Given the description of an element on the screen output the (x, y) to click on. 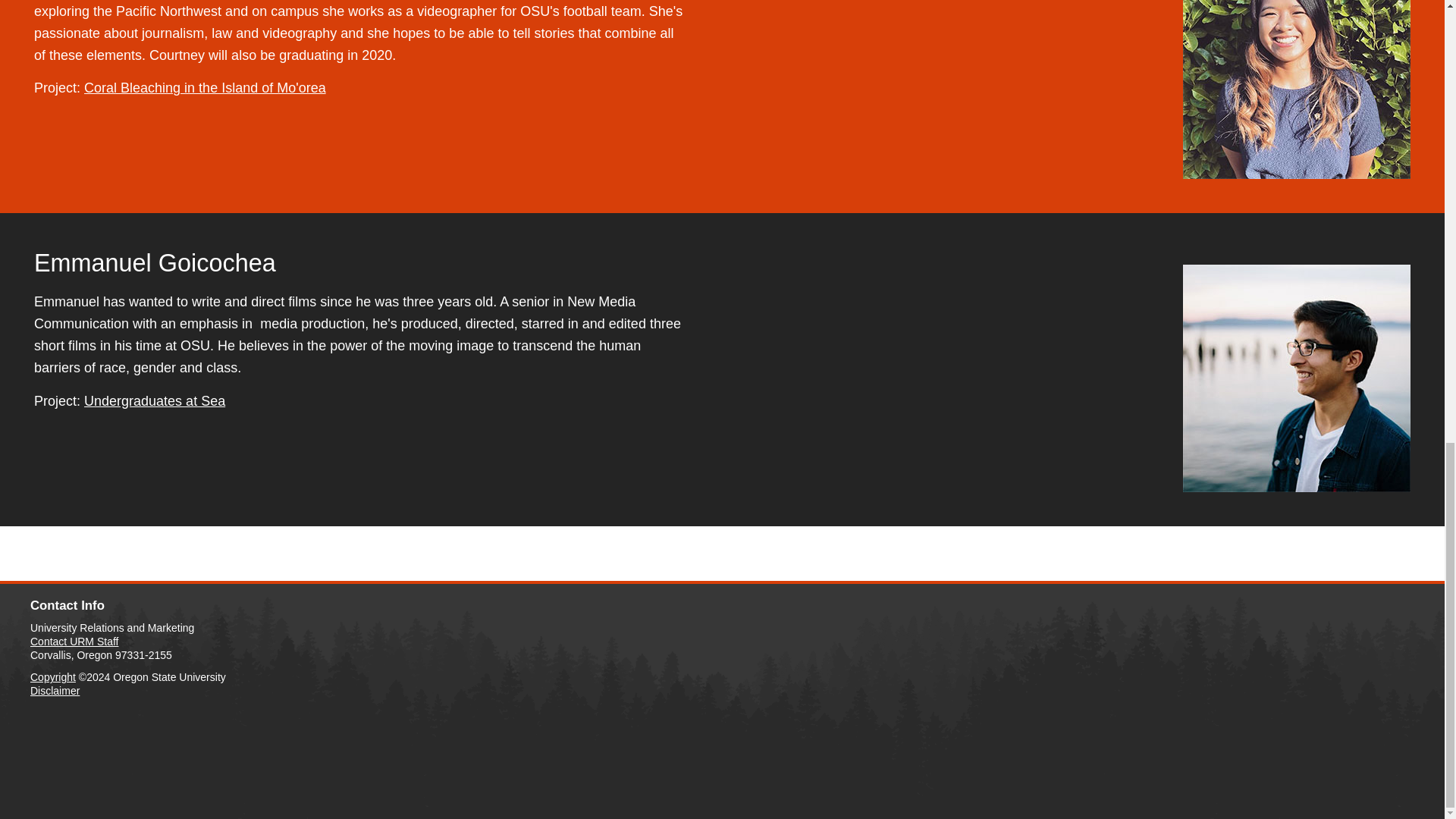
Coral Bleaching in the Island of Mo'orea (205, 87)
